Given the description of an element on the screen output the (x, y) to click on. 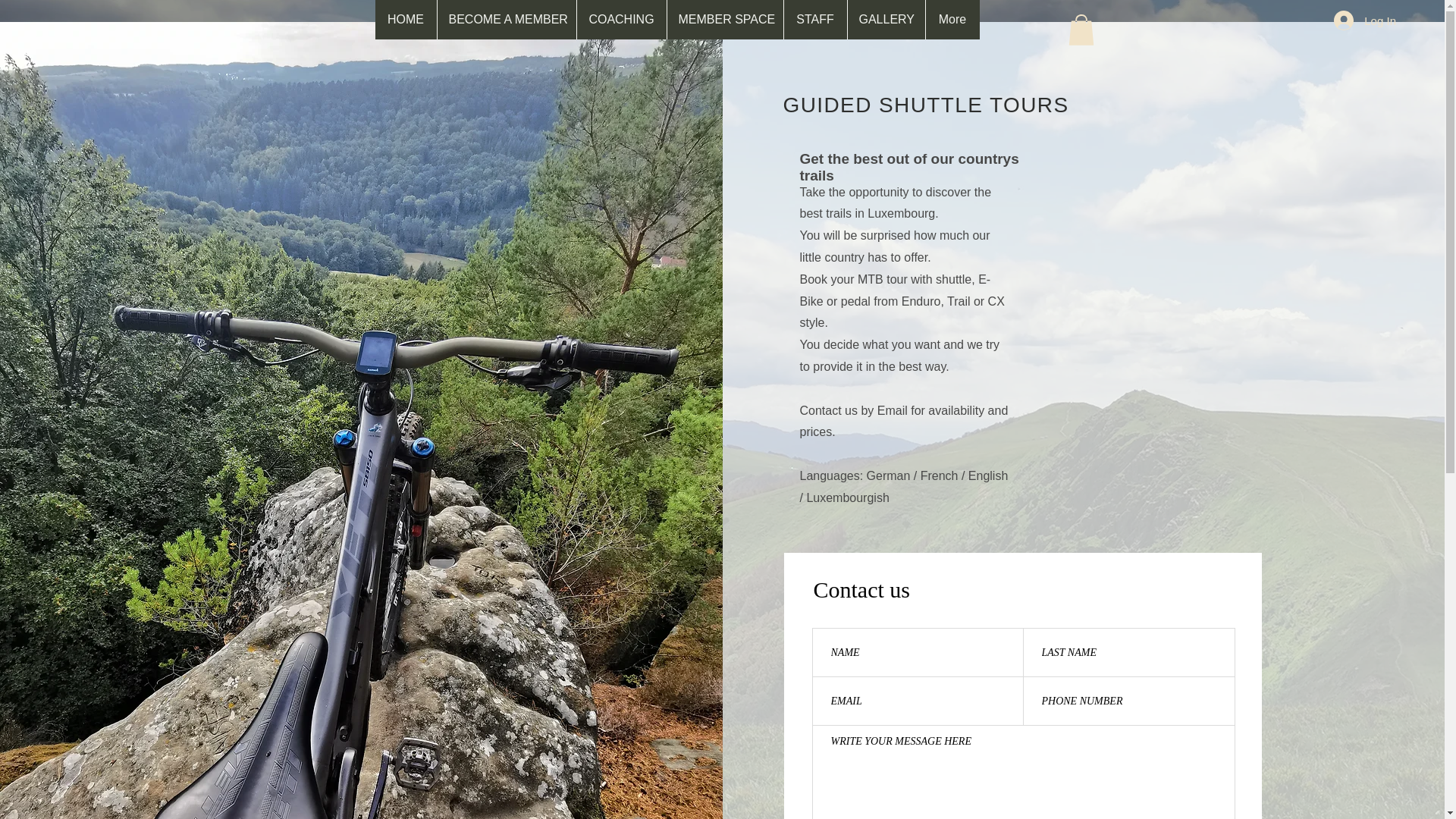
STAFF (814, 19)
COACHING (621, 19)
Log In (1364, 20)
HOME (404, 19)
GALLERY (884, 19)
MEMBER SPACE (724, 19)
BECOME A MEMBER (506, 19)
